Given the description of an element on the screen output the (x, y) to click on. 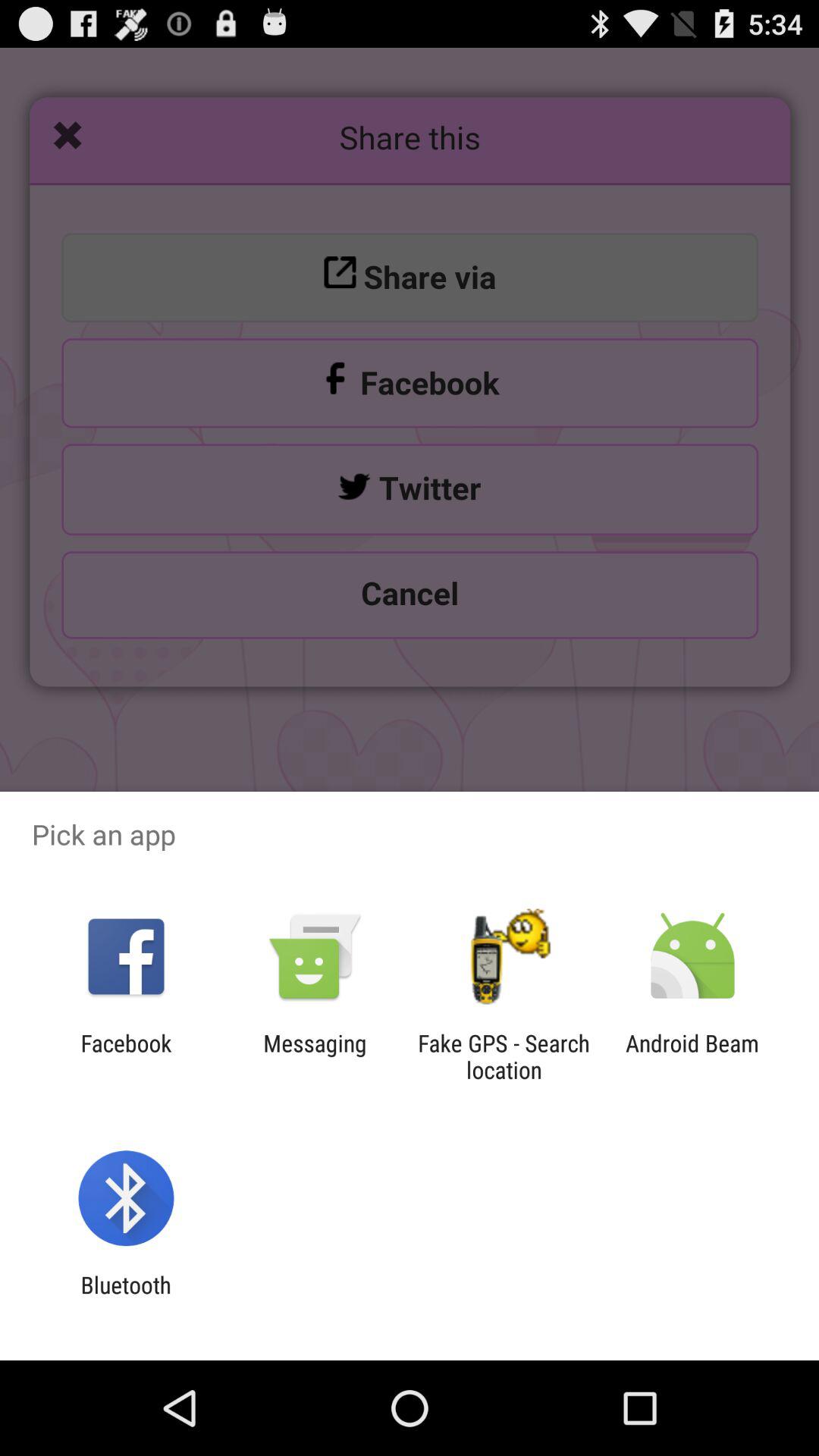
press the app next to messaging (503, 1056)
